Given the description of an element on the screen output the (x, y) to click on. 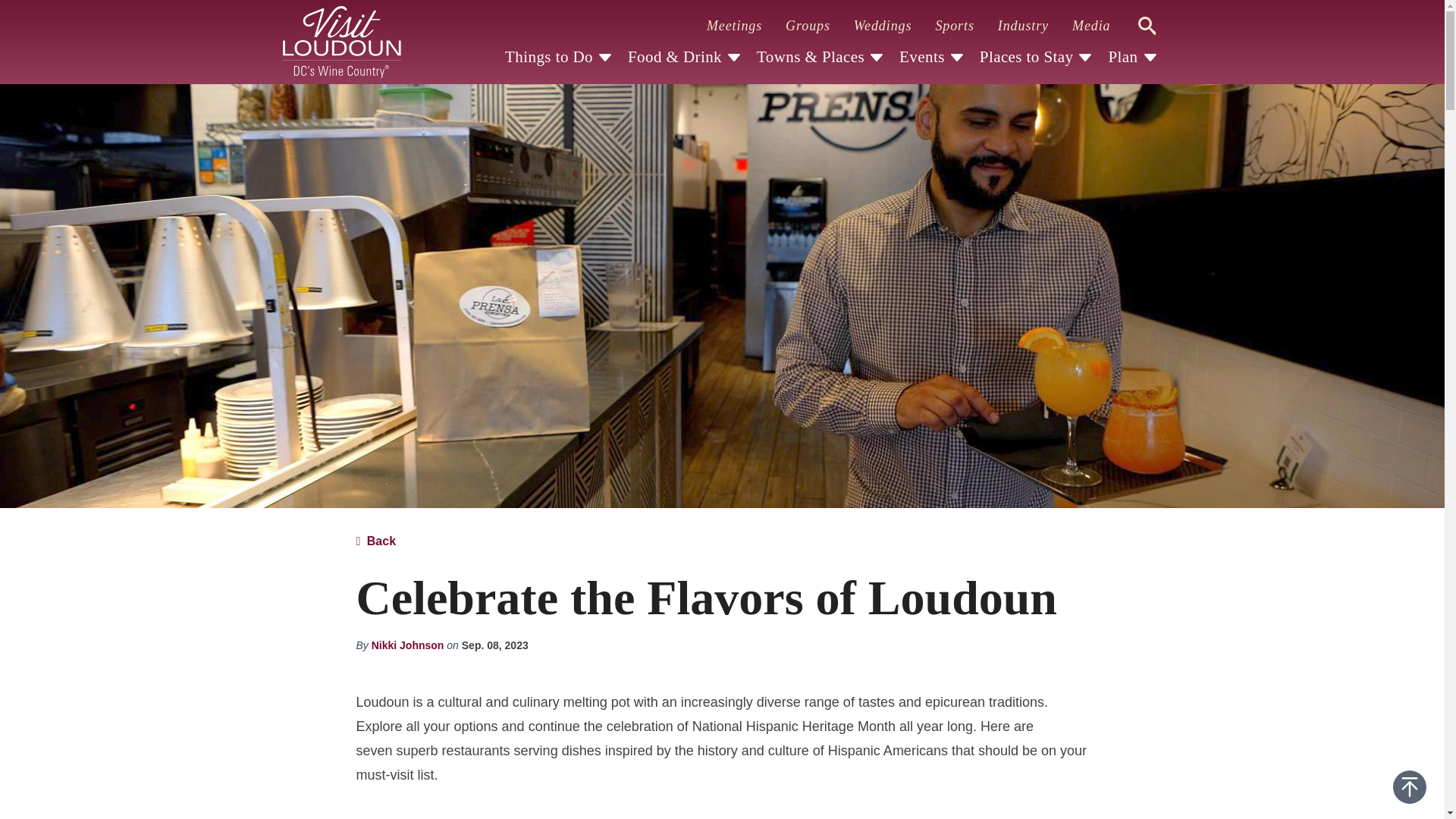
Sports (953, 25)
Events (921, 56)
Groups (806, 25)
Industry (1022, 25)
Places to Stay (1027, 56)
Weddings (882, 25)
Meetings (734, 25)
Media (1090, 25)
Things to Do (548, 56)
Plan (1122, 56)
